Given the description of an element on the screen output the (x, y) to click on. 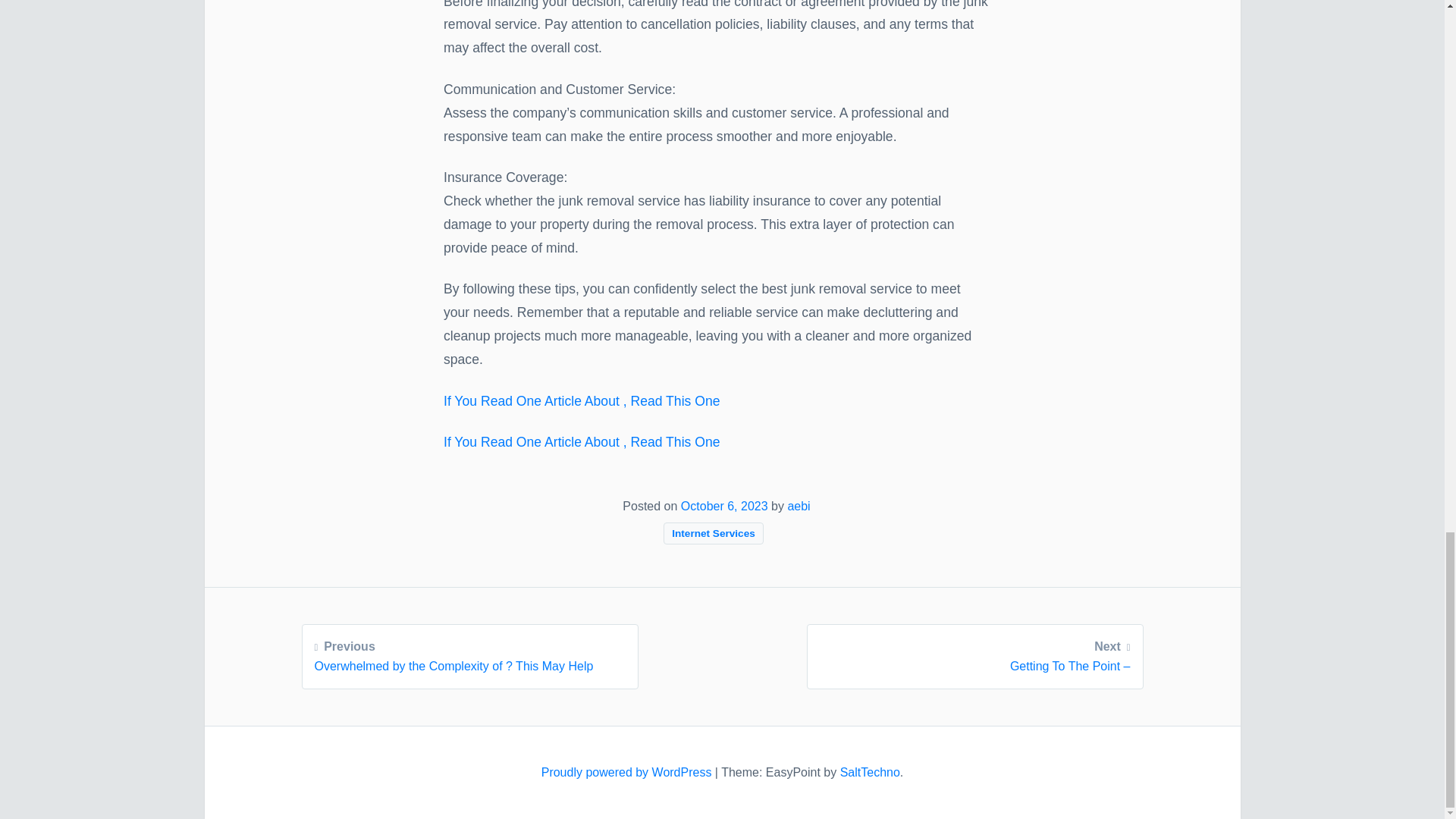
Internet Services (713, 532)
aebi (798, 505)
October 6, 2023 (469, 654)
Proudly powered by WordPress (724, 505)
If You Read One Article About , Read This One (627, 771)
SaltTechno (582, 400)
If You Read One Article About , Read This One (869, 771)
